Given the description of an element on the screen output the (x, y) to click on. 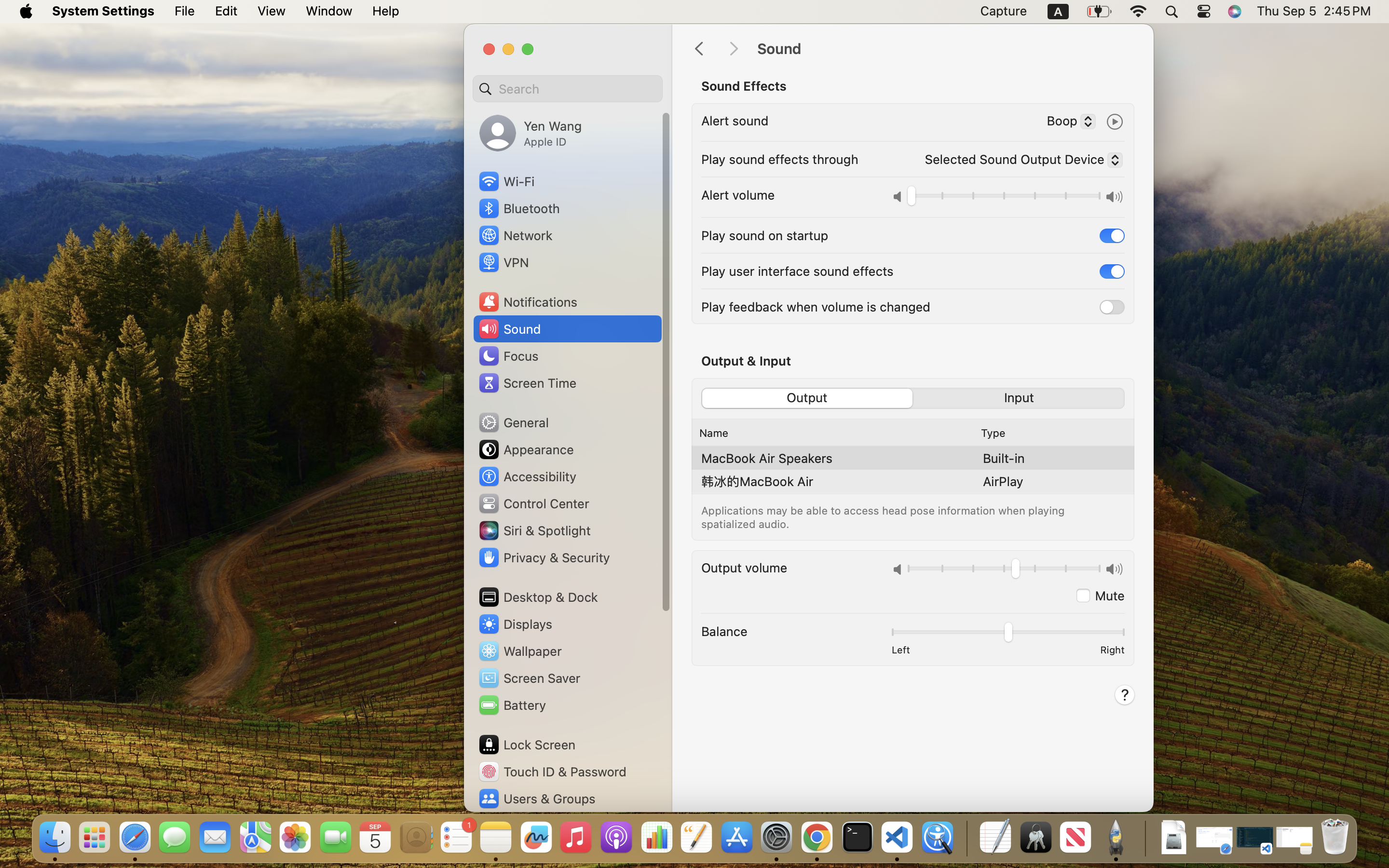
General Element type: AXStaticText (512, 422)
AirPlay Element type: AXStaticText (1002, 480)
Users & Groups Element type: AXStaticText (536, 798)
Touch ID & Password Element type: AXStaticText (551, 771)
0.5 Element type: AXSlider (1007, 633)
